Given the description of an element on the screen output the (x, y) to click on. 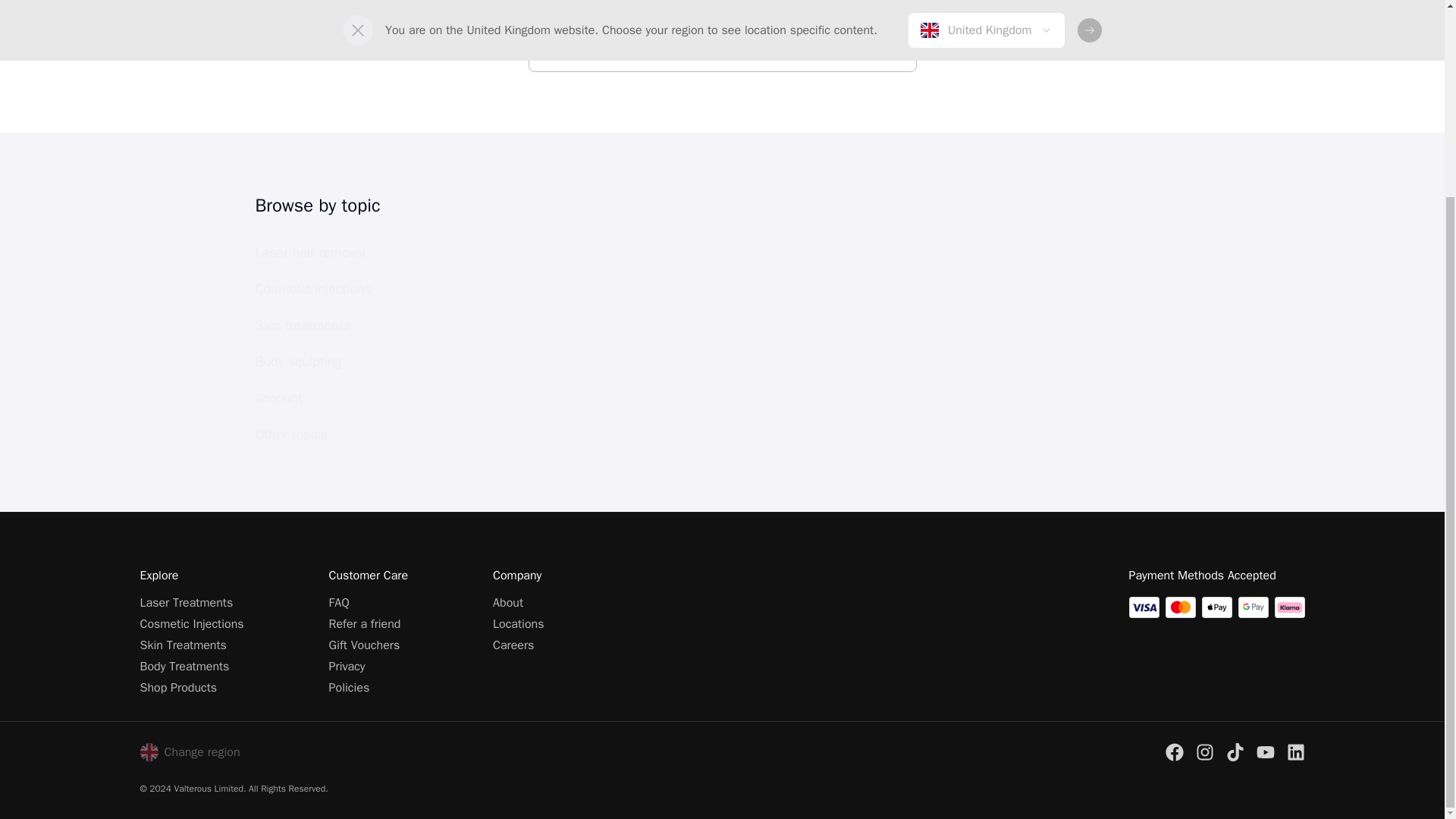
Laser hair removal (334, 253)
Cosmetic injections (334, 289)
Other topics (334, 434)
FAQ (339, 602)
Skin treatments (334, 325)
Body sculpting (334, 362)
Laser hair removal (334, 252)
Cosmetic injections (334, 288)
Shop Products (177, 687)
Account (334, 397)
